Given the description of an element on the screen output the (x, y) to click on. 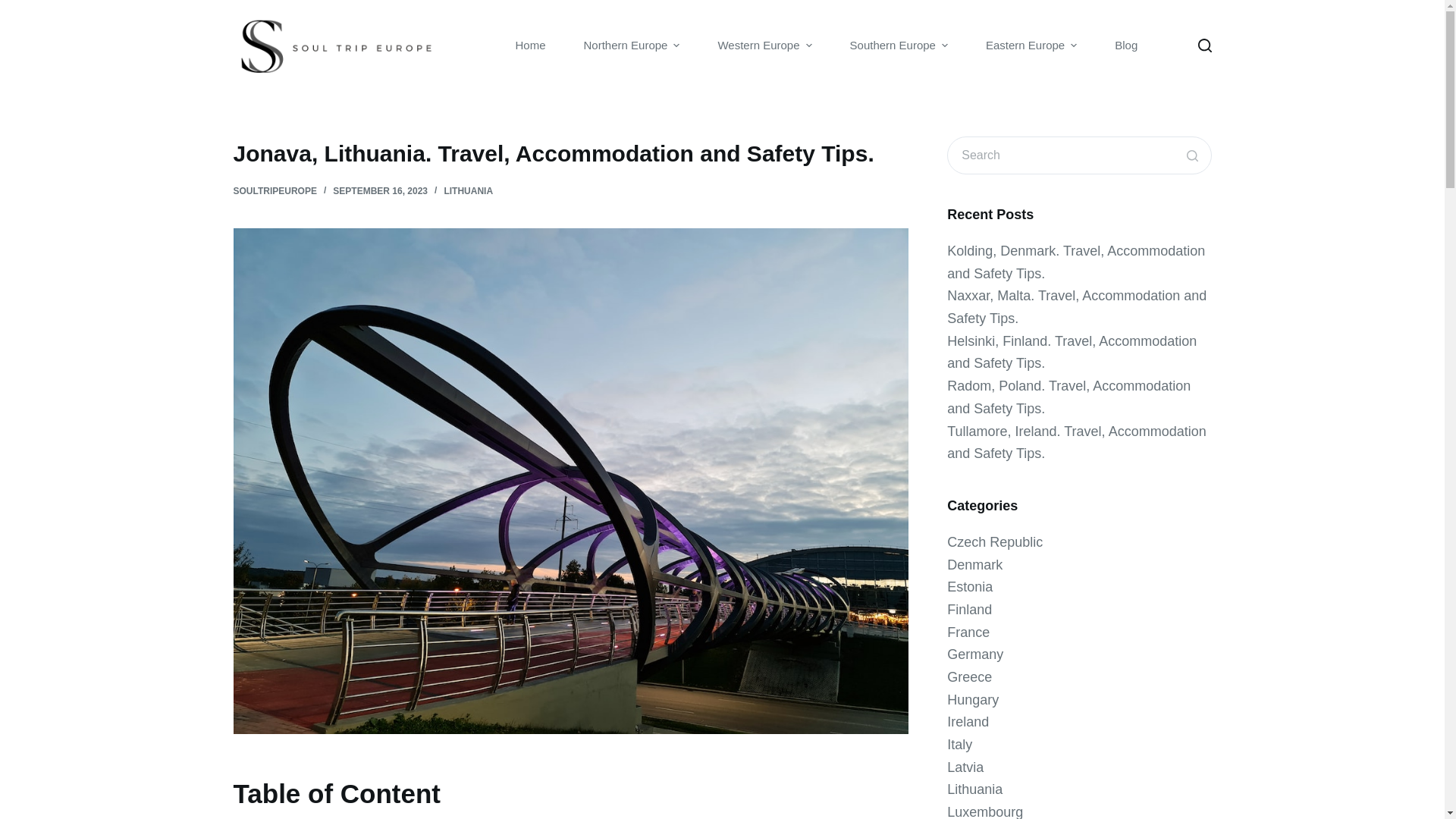
Jonava, Lithuania. Travel, Accommodation and Safety Tips. (570, 153)
Posts by SoulTripEurope (274, 190)
Search for... (1079, 155)
Home (530, 45)
Skip to content (15, 7)
Northern Europe (631, 45)
